Given the description of an element on the screen output the (x, y) to click on. 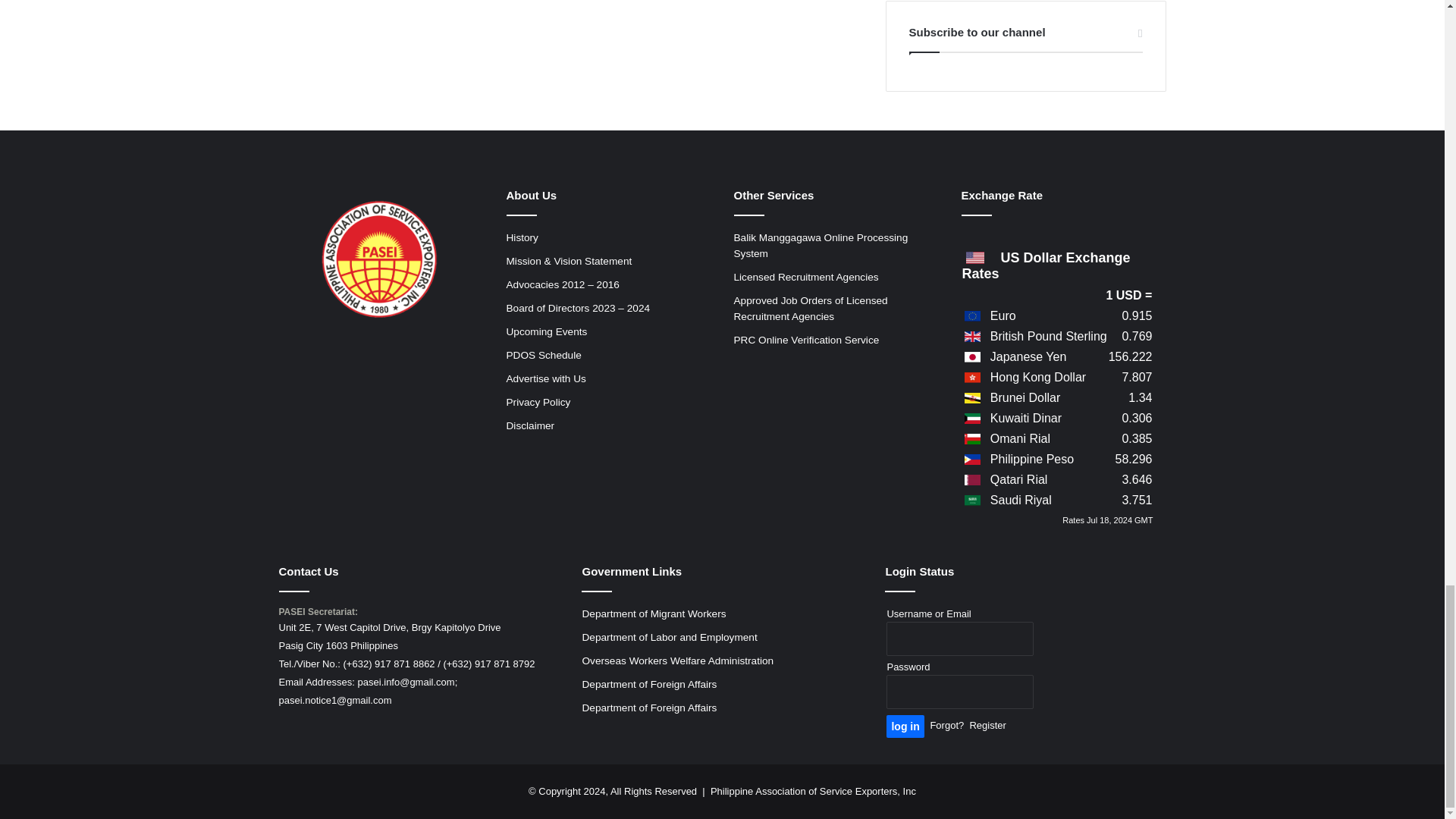
log in (904, 725)
